Given the description of an element on the screen output the (x, y) to click on. 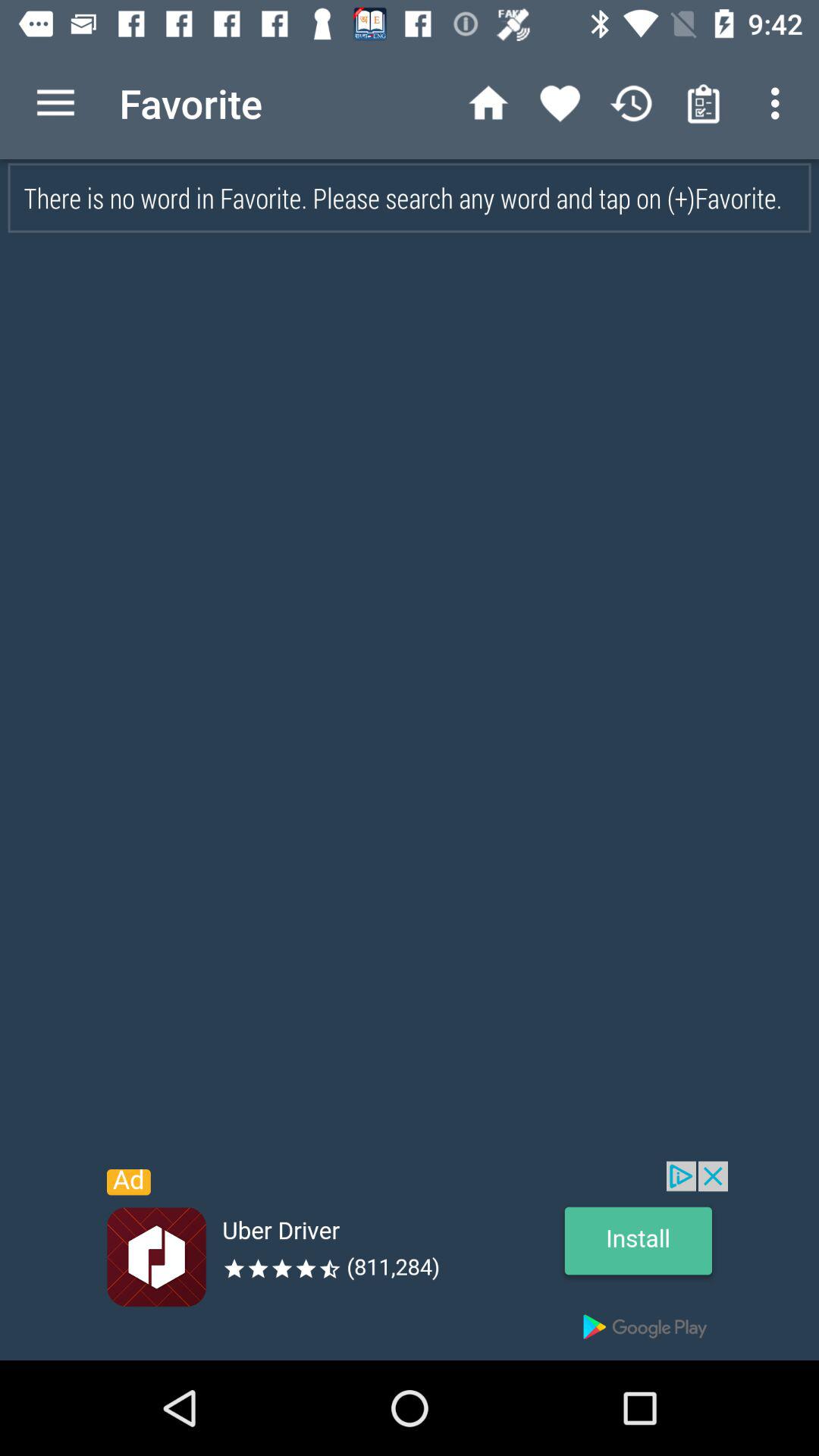
install app (409, 1260)
